Given the description of an element on the screen output the (x, y) to click on. 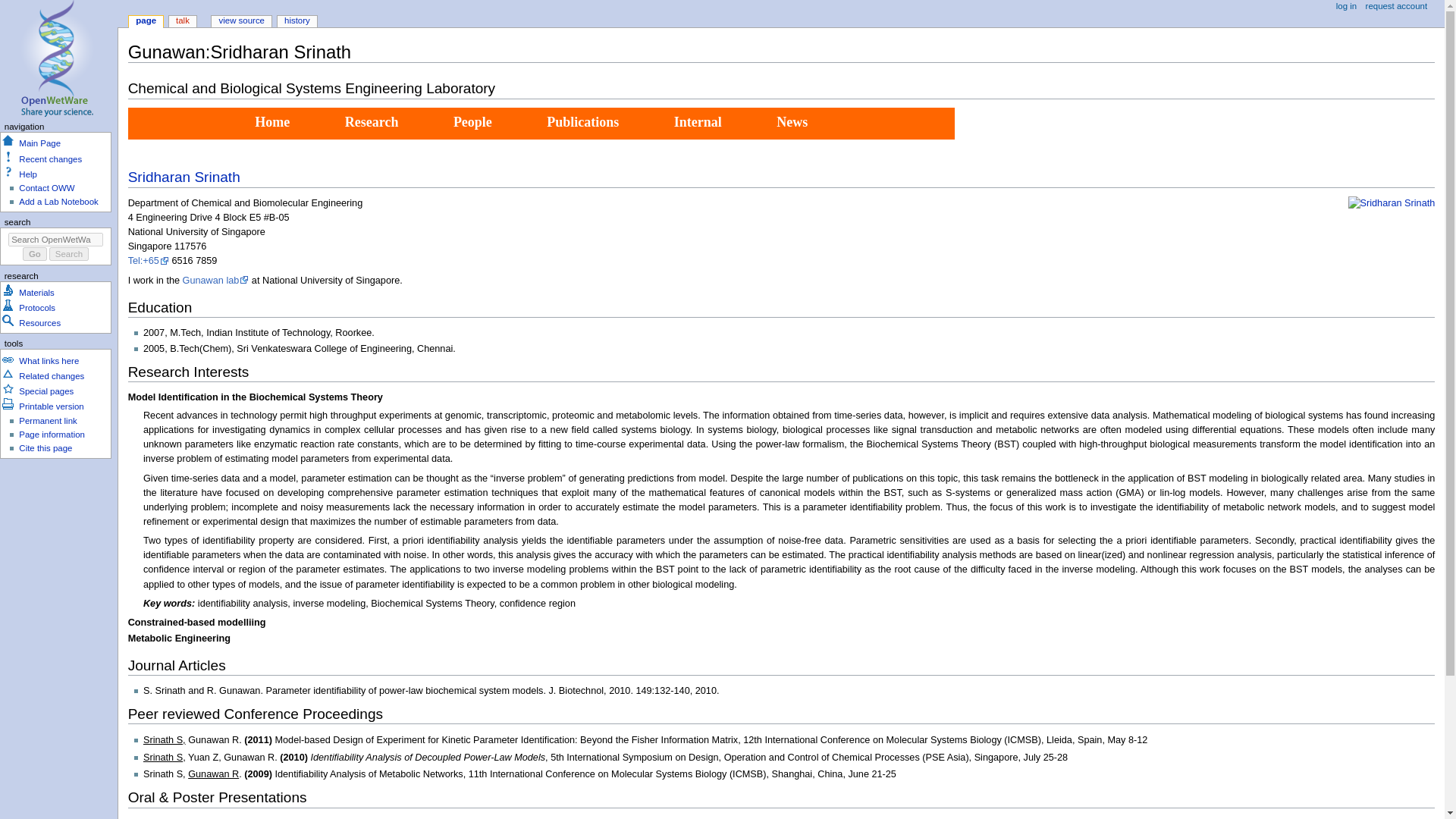
Add a Lab Notebook (57, 201)
history (297, 21)
Gunawan (273, 122)
What links here (48, 360)
Internal (697, 122)
Sridharan Srinath (184, 176)
Gunawan:Back Door (697, 122)
Protocols (36, 307)
Sridharan Srinath (1391, 203)
view source (240, 21)
Go (34, 254)
Publications (583, 122)
Search (68, 254)
Gunawan:Publications (583, 122)
Home (273, 122)
